Given the description of an element on the screen output the (x, y) to click on. 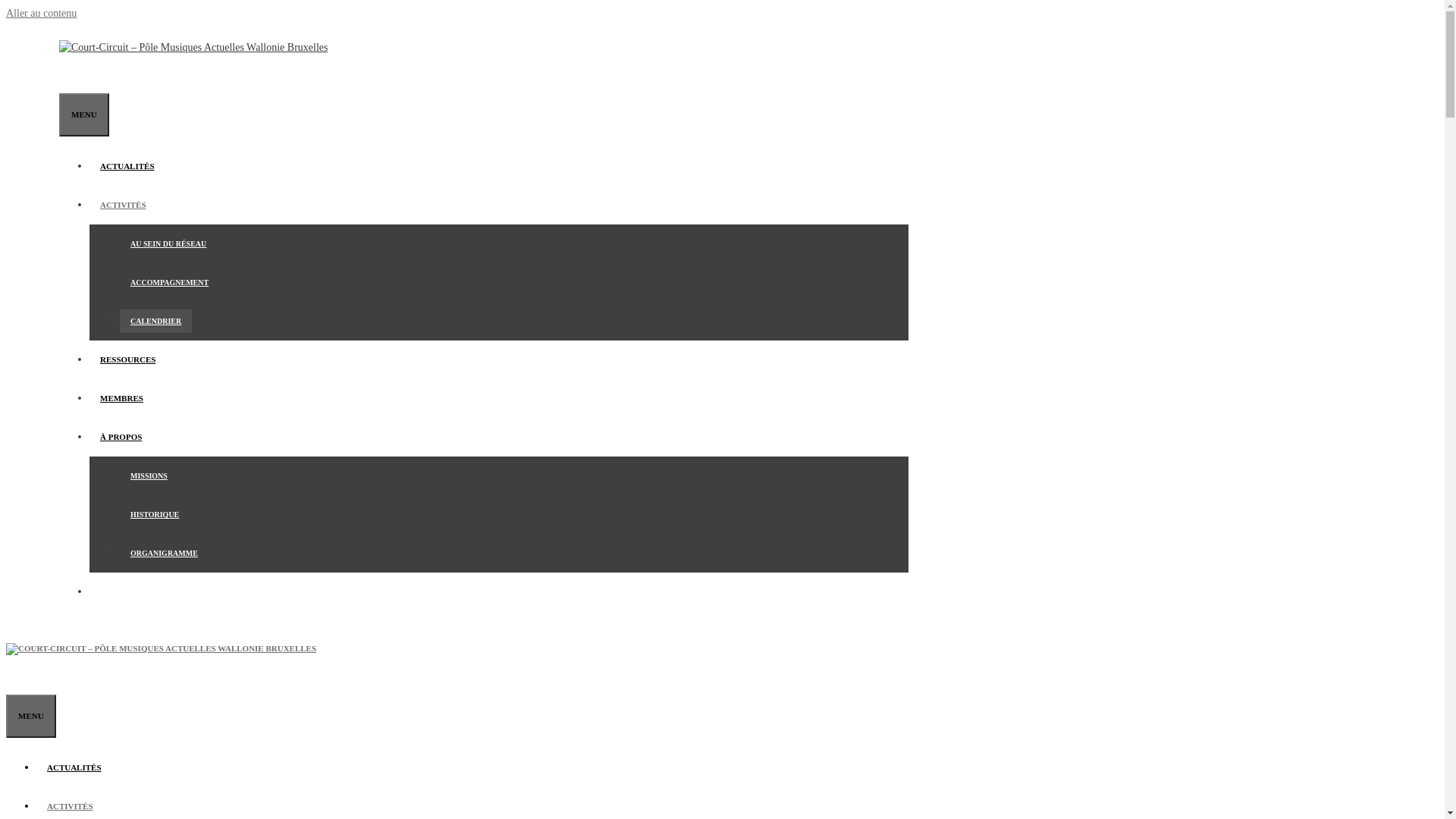
ORGANIGRAMME Element type: text (163, 552)
Aller au contenu Element type: text (41, 12)
HISTORIQUE Element type: text (154, 514)
MEMBRES Element type: text (121, 397)
MISSIONS Element type: text (148, 475)
MENU Element type: text (31, 715)
MENU Element type: text (84, 114)
RESSOURCES Element type: text (127, 359)
ACCOMPAGNEMENT Element type: text (169, 282)
CALENDRIER Element type: text (155, 320)
